Given the description of an element on the screen output the (x, y) to click on. 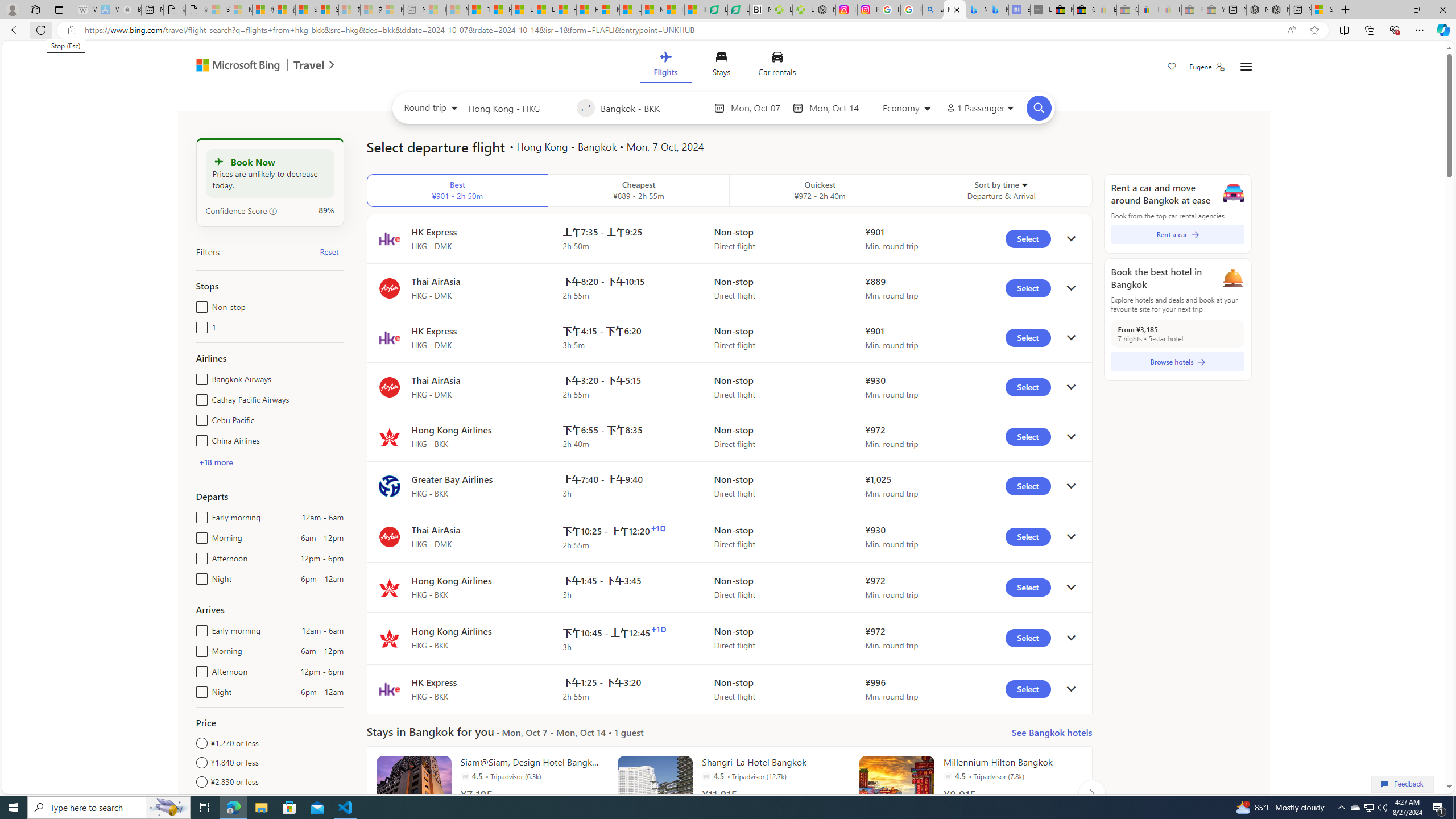
Address and search bar (680, 29)
Payments Terms of Use | eBay.com - Sleeping (1170, 9)
Swap source and destination (585, 108)
Flights (665, 65)
alabama high school quarterback dies - Search (933, 9)
Personal Profile (12, 9)
Workspaces (34, 9)
click to get details (1070, 688)
Nvidia va a poner a prueba la paciencia de los inversores (760, 9)
